Given the description of an element on the screen output the (x, y) to click on. 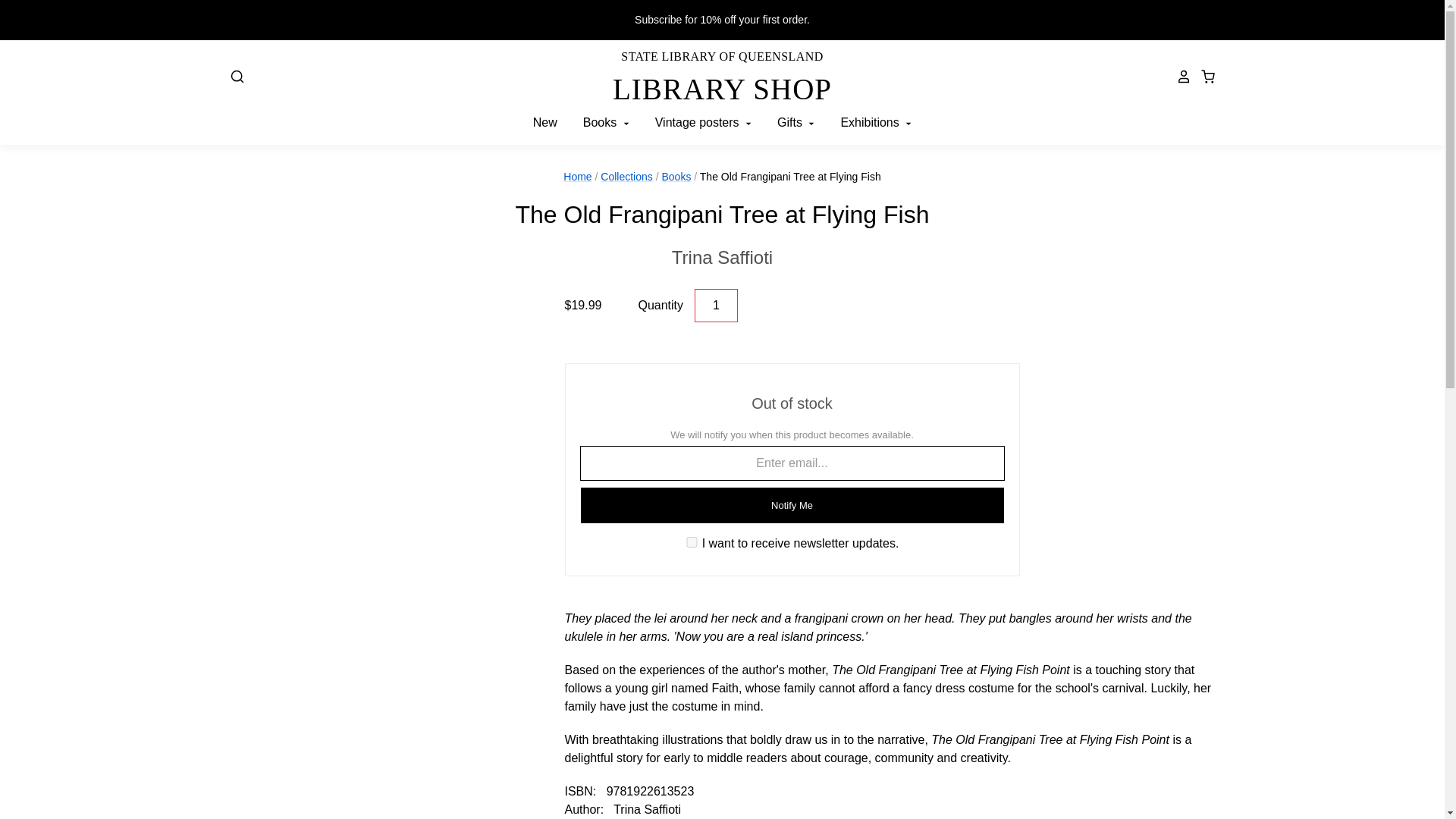
1 (715, 305)
on (722, 257)
